Given the description of an element on the screen output the (x, y) to click on. 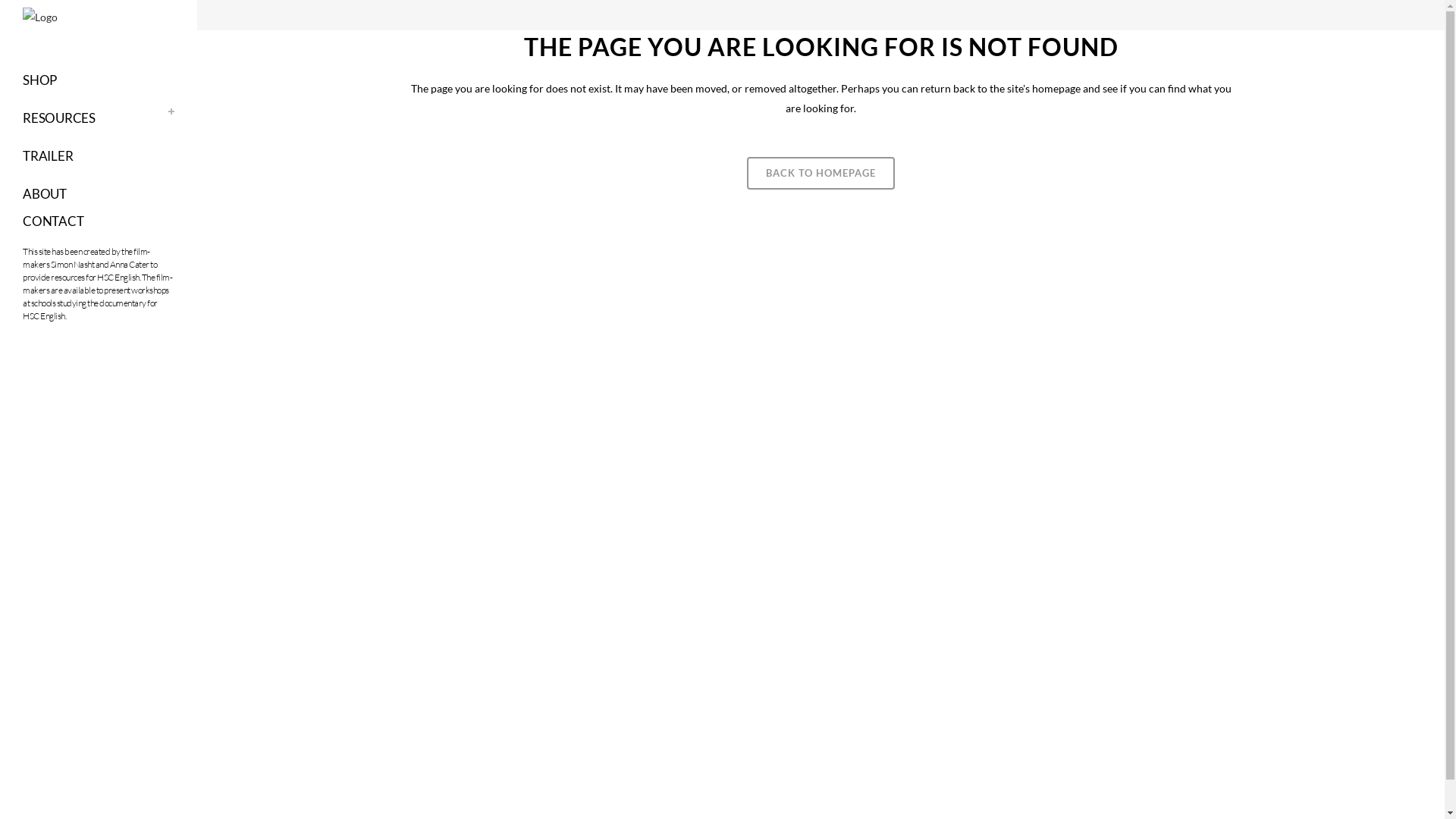
ABOUT Element type: text (98, 194)
RESOURCES Element type: text (98, 118)
TRAILER Element type: text (98, 156)
BACK TO HOMEPAGE Element type: text (820, 172)
SHOP Element type: text (98, 80)
